Given the description of an element on the screen output the (x, y) to click on. 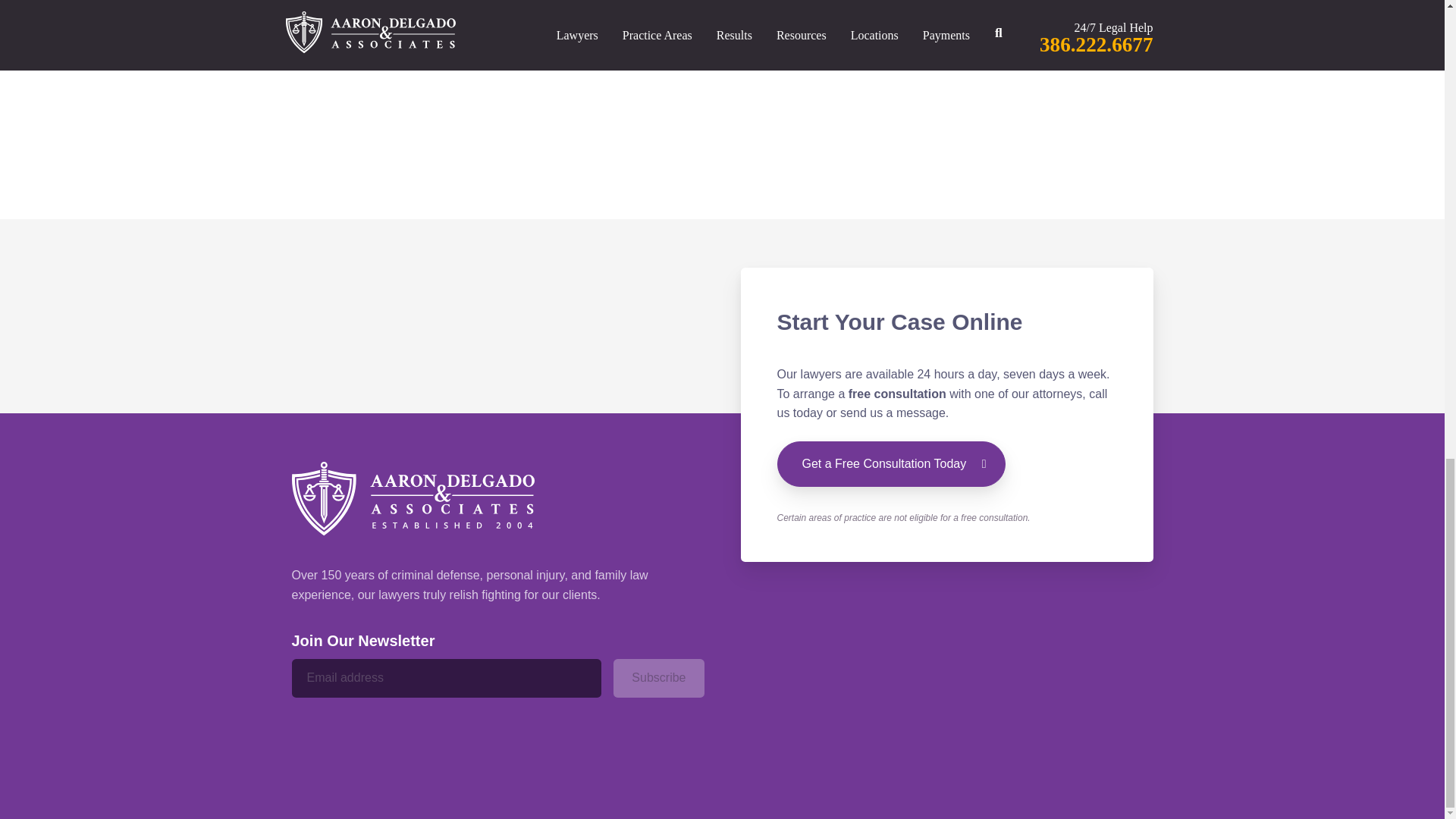
Subscribe (657, 677)
